Given the description of an element on the screen output the (x, y) to click on. 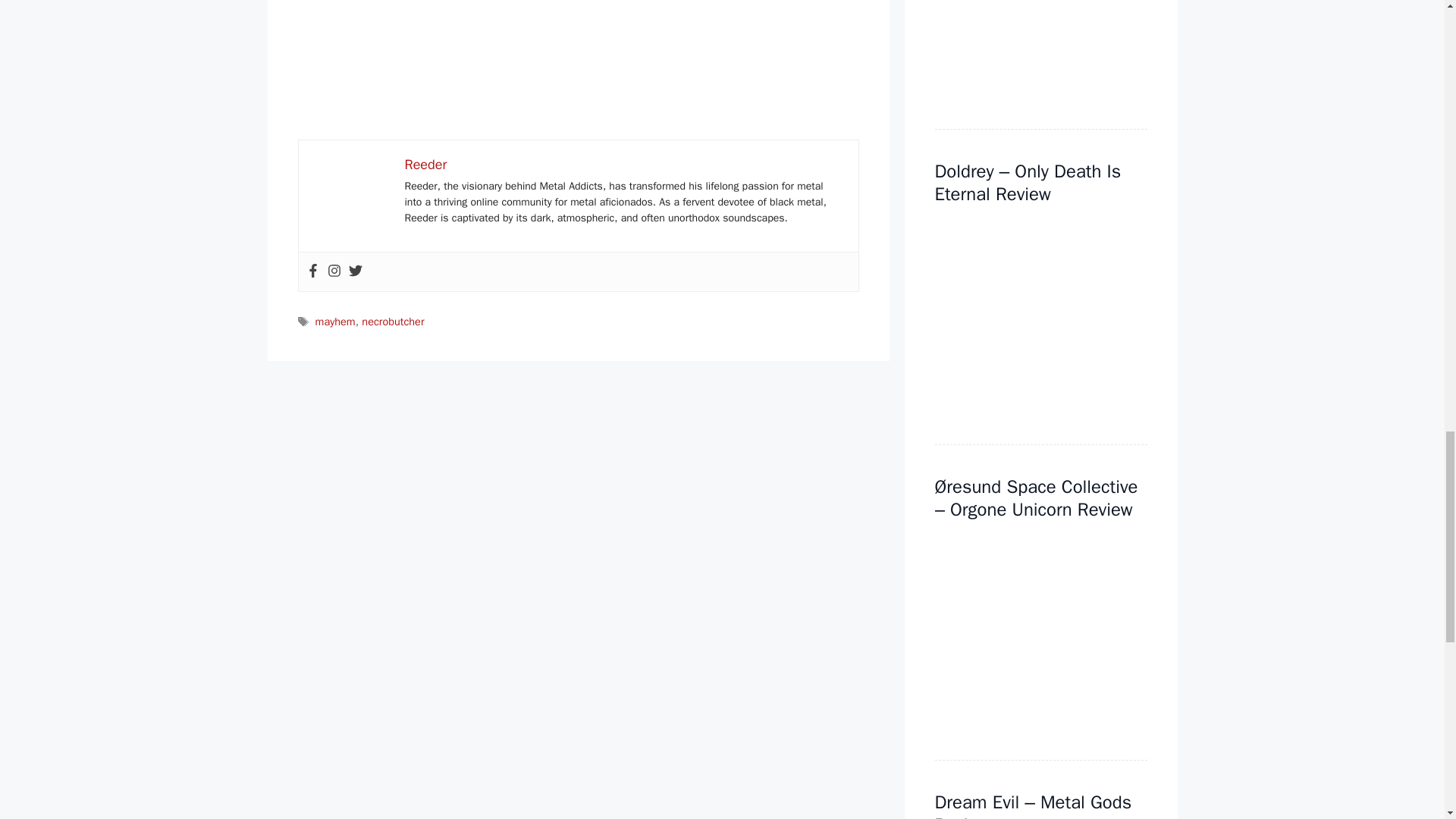
necrobutcher (392, 321)
Reeder (425, 164)
mayhem (335, 321)
